Given the description of an element on the screen output the (x, y) to click on. 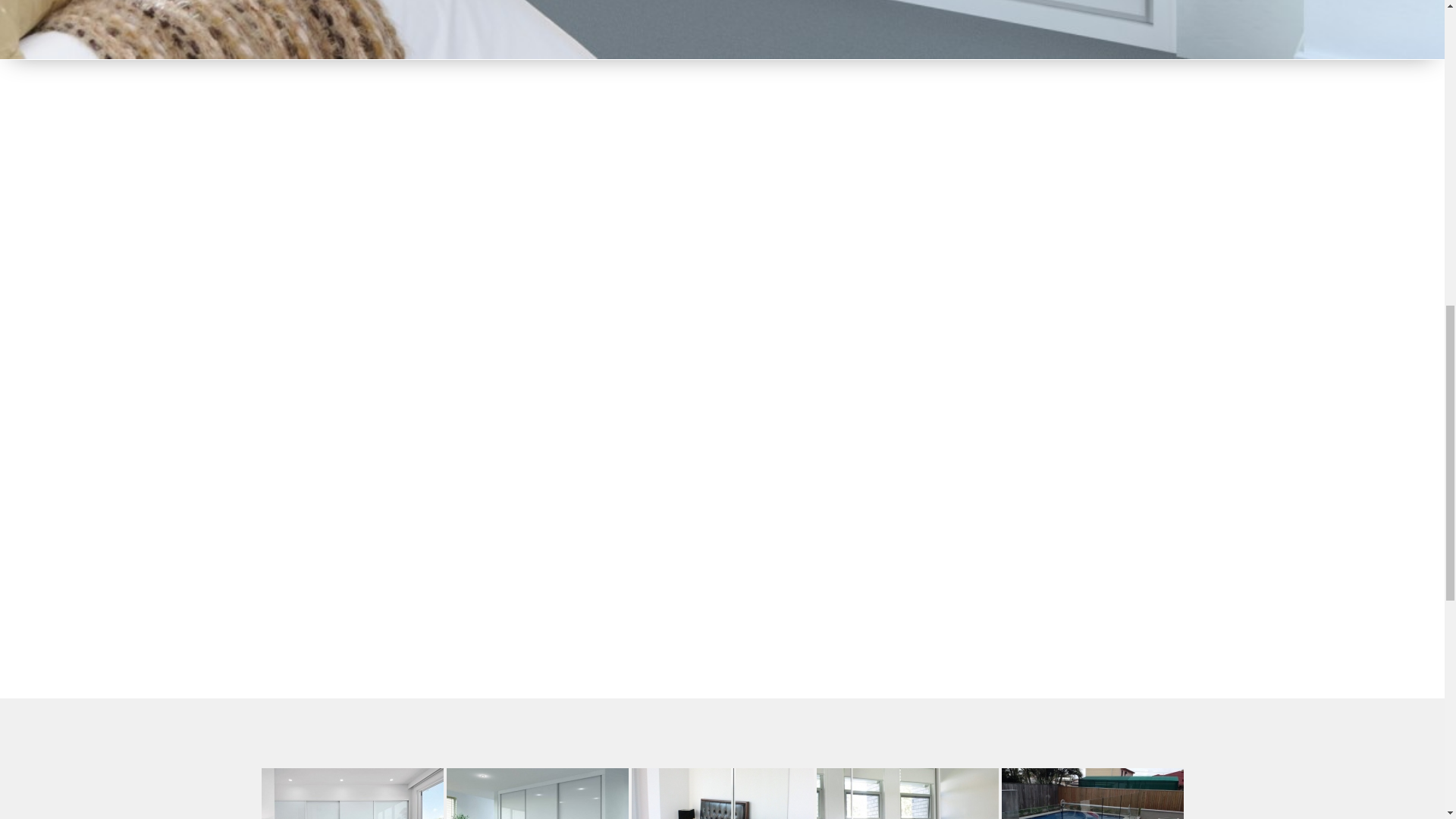
Frameless Glass Gold Coast (536, 793)
Frameless Glass Gold Coast (351, 793)
Frameless Glass Doors Gold Coast (906, 793)
Frameless glass Brisbane (721, 793)
Glass pool fencing Gold Coast (1091, 793)
